Given the description of an element on the screen output the (x, y) to click on. 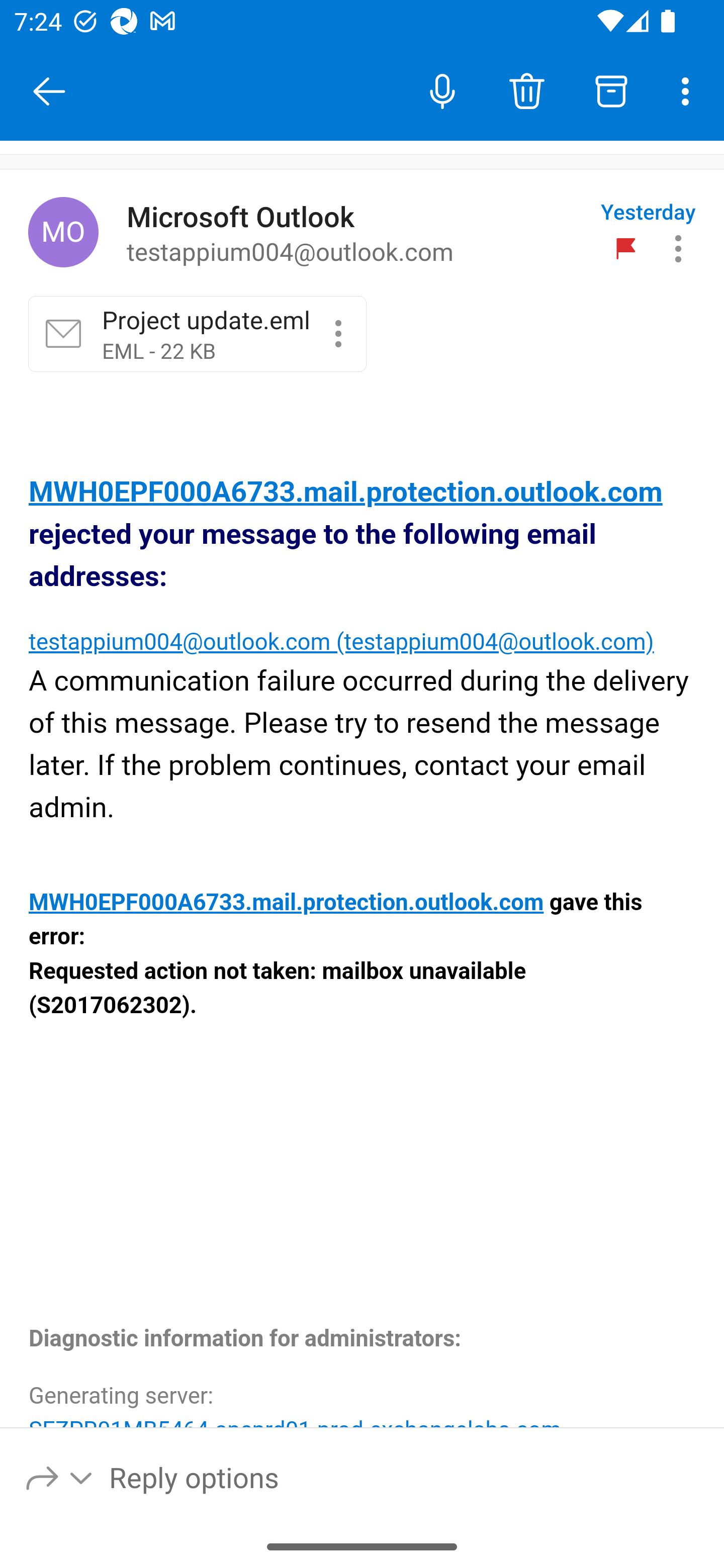
Close (49, 91)
Delete (526, 90)
Archive (611, 90)
More options (688, 90)
Microsoft Outlook
to testappium004@outlook.com (356, 232)
Message actions (678, 248)
Project update.eml (338, 333)
MWH0EPF000A6733.mail.protection.outlook.com (345, 492)
MWH0EPF000A6733.mail.protection.outlook.com (285, 903)
Reply options (59, 1476)
